Given the description of an element on the screen output the (x, y) to click on. 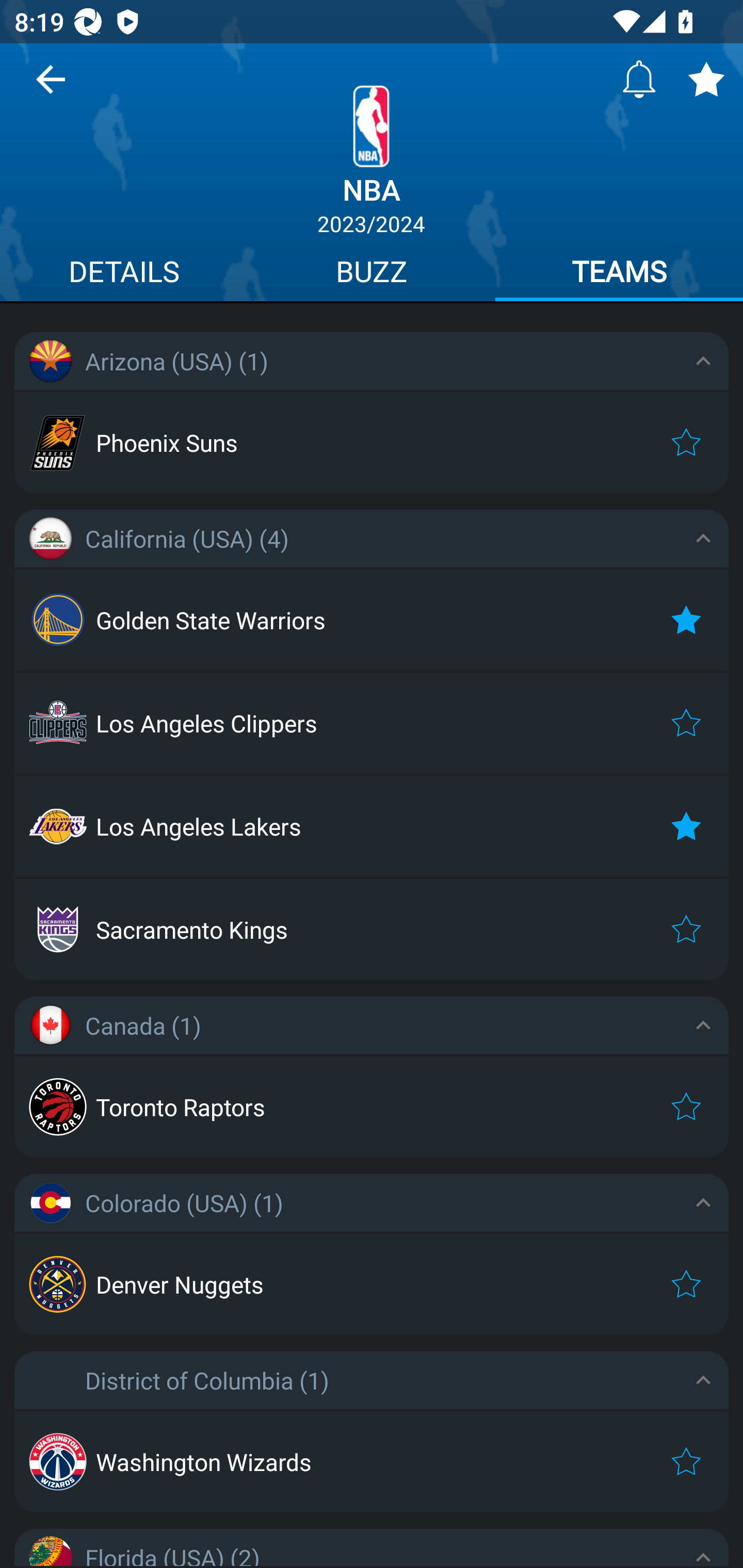
Navigate up (50, 86)
DETAILS (123, 274)
BUZZ (371, 274)
TEAMS (619, 274)
Arizona (USA) (1) (371, 361)
Phoenix Suns (371, 442)
California (USA) (4) (371, 538)
Golden State Warriors (371, 620)
Los Angeles Clippers (371, 722)
Los Angeles Lakers (371, 826)
Sacramento Kings (371, 929)
Canada (1) (371, 1025)
Toronto Raptors (371, 1106)
Colorado (USA) (1) (371, 1203)
Denver Nuggets (371, 1284)
District of Columbia (1) (371, 1380)
Washington Wizards (371, 1461)
